Given the description of an element on the screen output the (x, y) to click on. 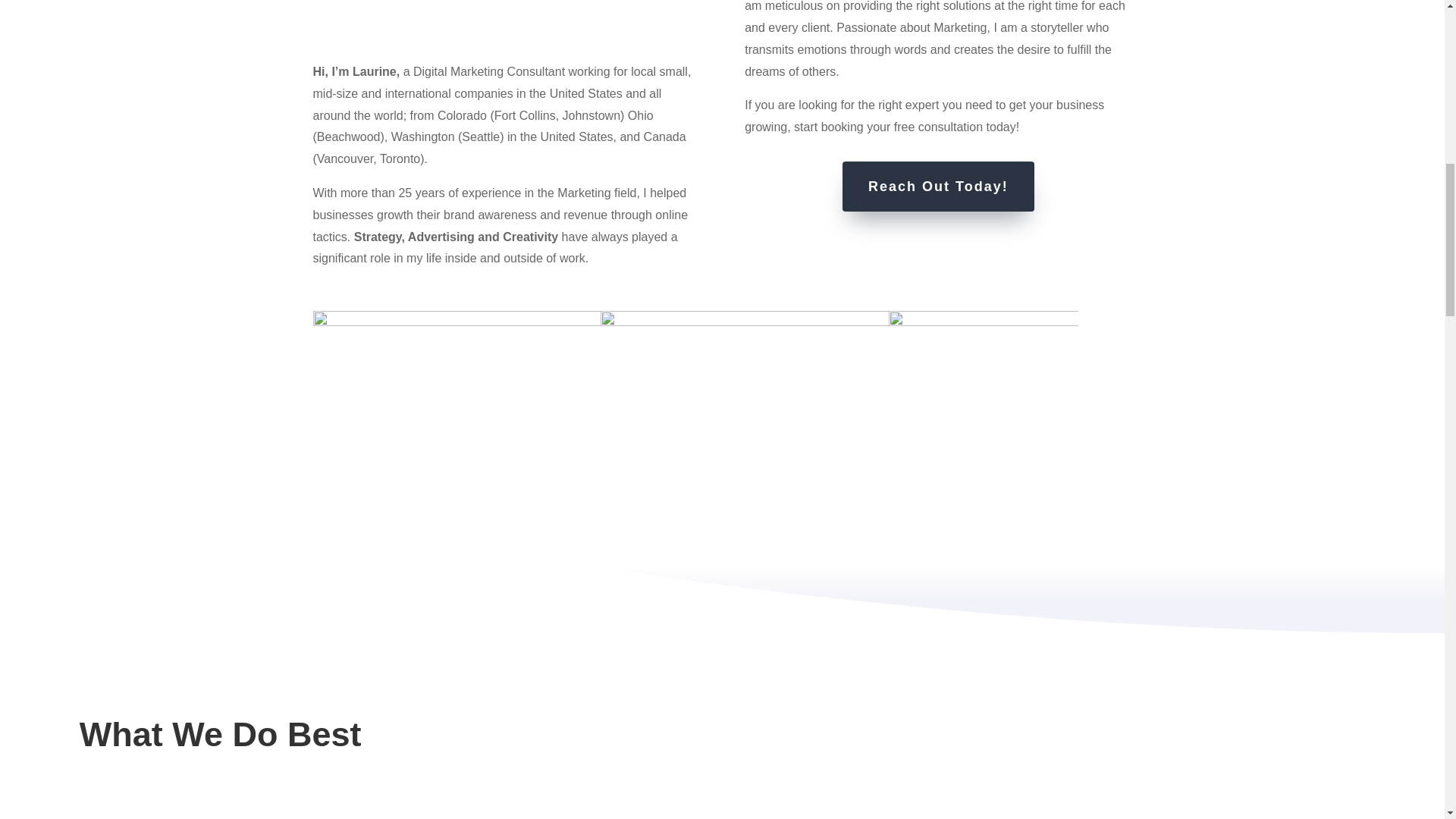
Book Your Free Consultation (937, 126)
City of Toronto (400, 158)
City of Vancouver, Canada (344, 158)
City of Beachwood, Ohio (348, 136)
linkedin-badge (506, 19)
City of Johnstown, Colorado (591, 115)
City of Fort Collins, Colorado (525, 115)
